Given the description of an element on the screen output the (x, y) to click on. 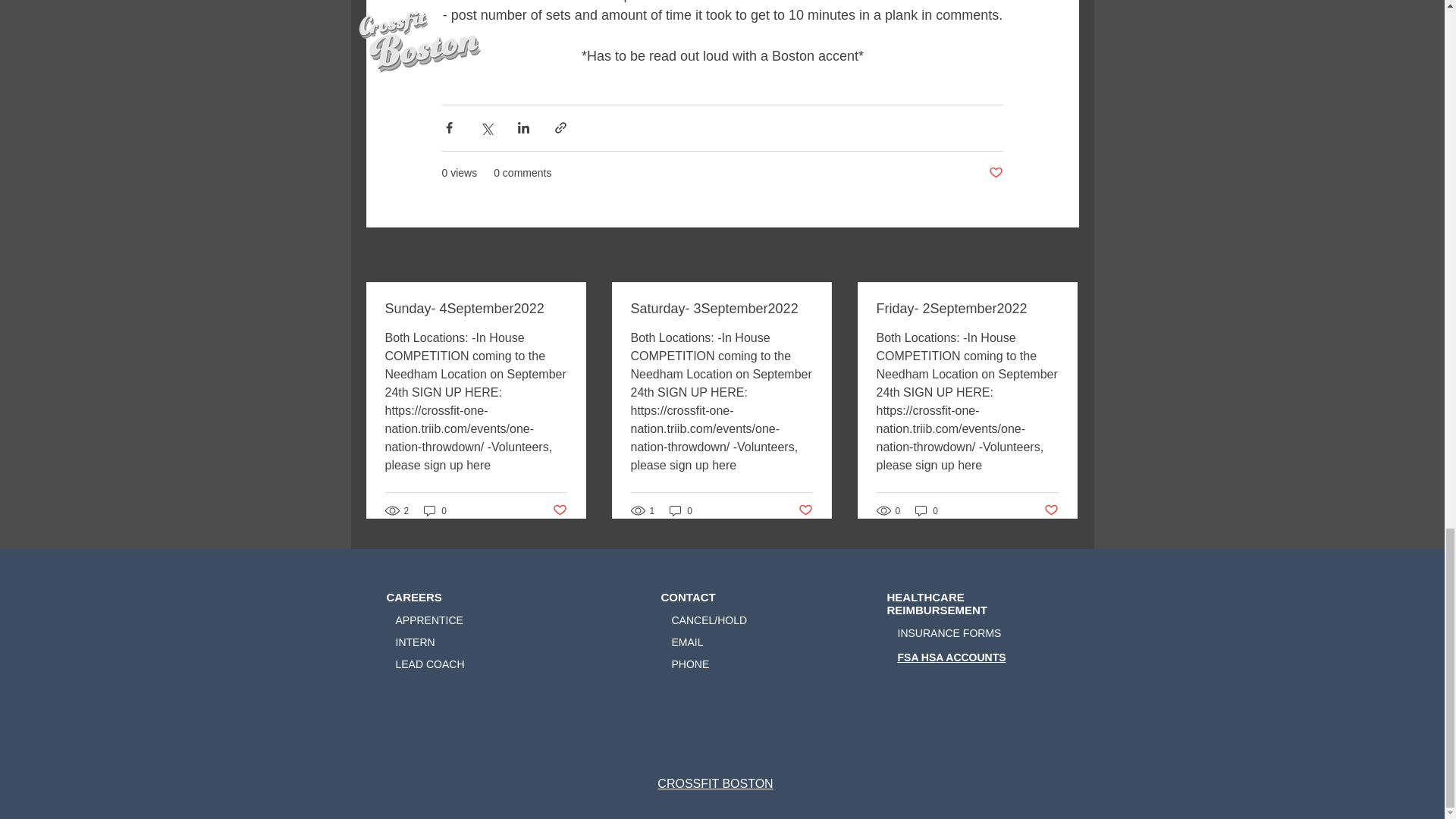
0 (435, 510)
Post not marked as liked (995, 172)
CAREERS (414, 596)
INTERN (415, 642)
Post not marked as liked (558, 510)
LEAD COACH (430, 664)
Friday- 2September2022 (967, 308)
CONTACT (688, 596)
APPRENTICE (429, 620)
0 (681, 510)
Saturday- 3September2022 (721, 308)
0 (926, 510)
Post not marked as liked (1050, 510)
See All (1061, 255)
Sunday- 4September2022 (476, 308)
